Given the description of an element on the screen output the (x, y) to click on. 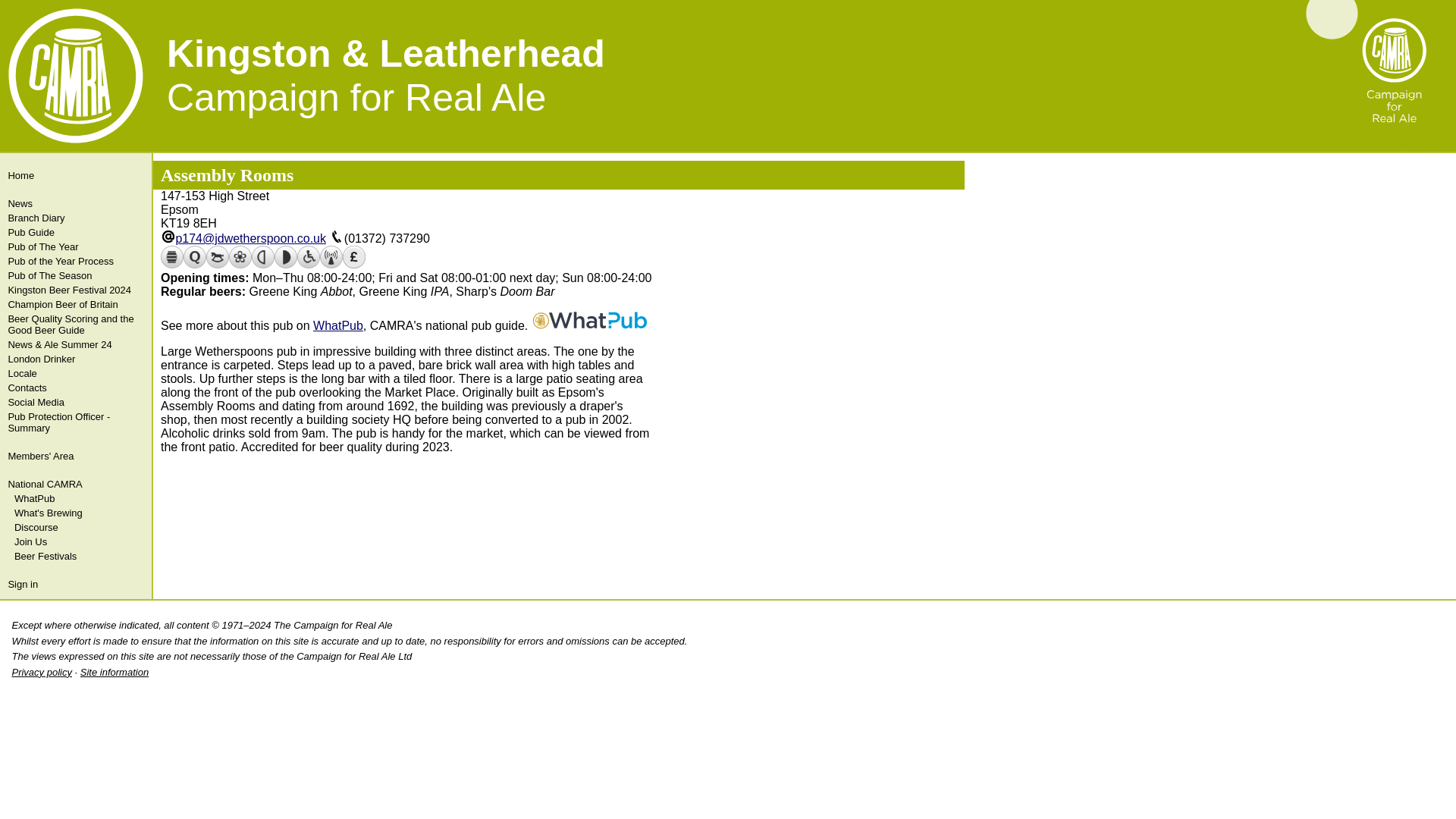
Pub of the Year Process (74, 260)
Members' Area (74, 455)
Champion Beer of Britain (74, 304)
National CAMRA (74, 483)
WhatPub (75, 498)
Pub of The Year (74, 246)
Pub Guide (74, 232)
Pub Protection Officer - Summary (74, 421)
Branch Diary (74, 217)
Privacy policy (41, 672)
Resources for CAMRA members (74, 455)
Sign in (74, 584)
Kingston Beer Festival 2024 (74, 289)
Home (74, 175)
London Drinker (74, 359)
